Given the description of an element on the screen output the (x, y) to click on. 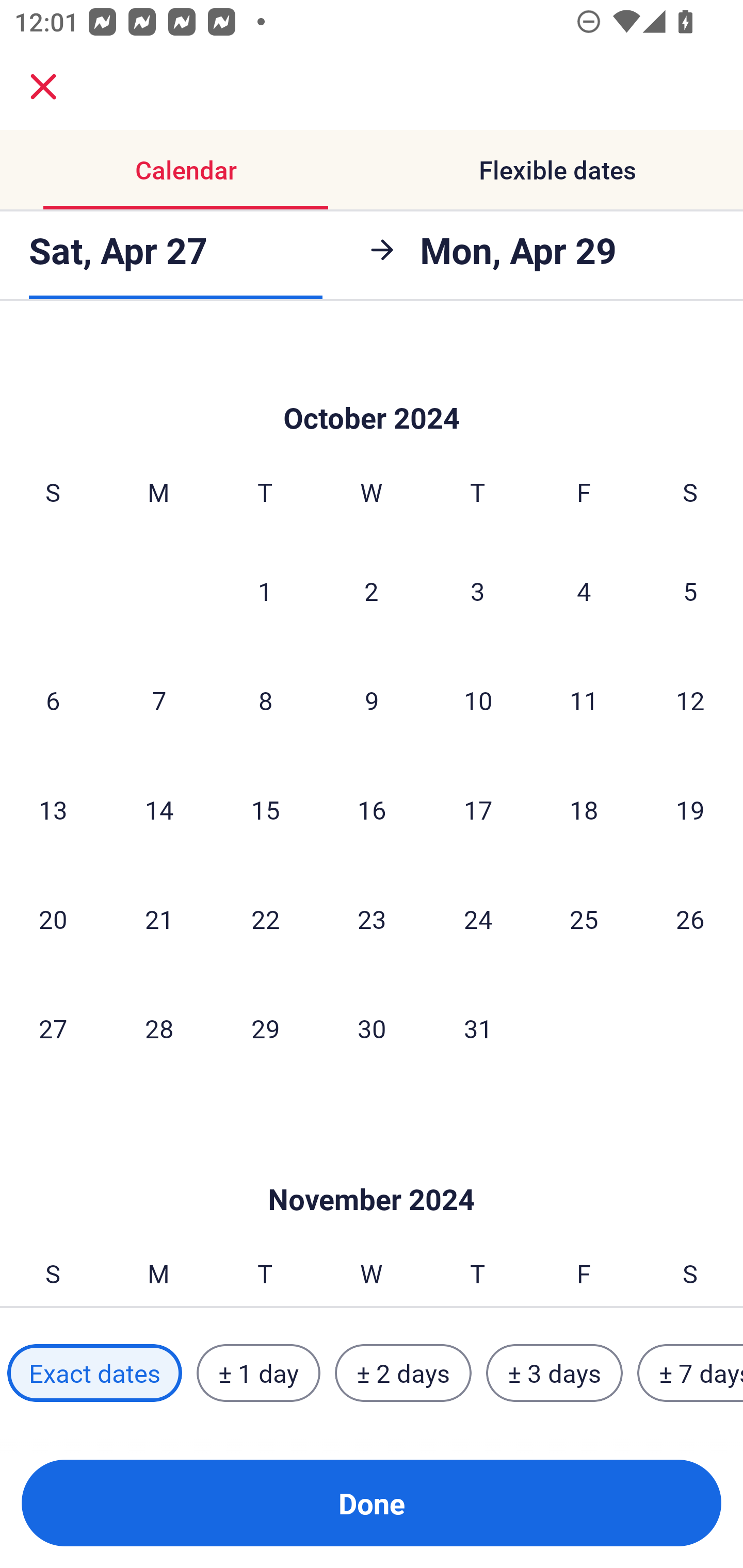
close. (43, 86)
Flexible dates (557, 170)
Skip to Done (371, 387)
1 Tuesday, October 1, 2024 (264, 590)
2 Wednesday, October 2, 2024 (371, 590)
3 Thursday, October 3, 2024 (477, 590)
4 Friday, October 4, 2024 (584, 590)
5 Saturday, October 5, 2024 (690, 590)
6 Sunday, October 6, 2024 (53, 699)
7 Monday, October 7, 2024 (159, 699)
8 Tuesday, October 8, 2024 (265, 699)
9 Wednesday, October 9, 2024 (371, 699)
10 Thursday, October 10, 2024 (477, 699)
11 Friday, October 11, 2024 (584, 699)
12 Saturday, October 12, 2024 (690, 699)
13 Sunday, October 13, 2024 (53, 809)
14 Monday, October 14, 2024 (159, 809)
15 Tuesday, October 15, 2024 (265, 809)
16 Wednesday, October 16, 2024 (371, 809)
17 Thursday, October 17, 2024 (477, 809)
18 Friday, October 18, 2024 (584, 809)
19 Saturday, October 19, 2024 (690, 809)
20 Sunday, October 20, 2024 (53, 918)
21 Monday, October 21, 2024 (159, 918)
22 Tuesday, October 22, 2024 (265, 918)
23 Wednesday, October 23, 2024 (371, 918)
24 Thursday, October 24, 2024 (477, 918)
25 Friday, October 25, 2024 (584, 918)
26 Saturday, October 26, 2024 (690, 918)
27 Sunday, October 27, 2024 (53, 1027)
28 Monday, October 28, 2024 (159, 1027)
29 Tuesday, October 29, 2024 (265, 1027)
30 Wednesday, October 30, 2024 (371, 1027)
31 Thursday, October 31, 2024 (477, 1027)
Skip to Done (371, 1168)
Exact dates (94, 1372)
± 1 day (258, 1372)
± 2 days (403, 1372)
± 3 days (553, 1372)
± 7 days (690, 1372)
Done (371, 1502)
